Given the description of an element on the screen output the (x, y) to click on. 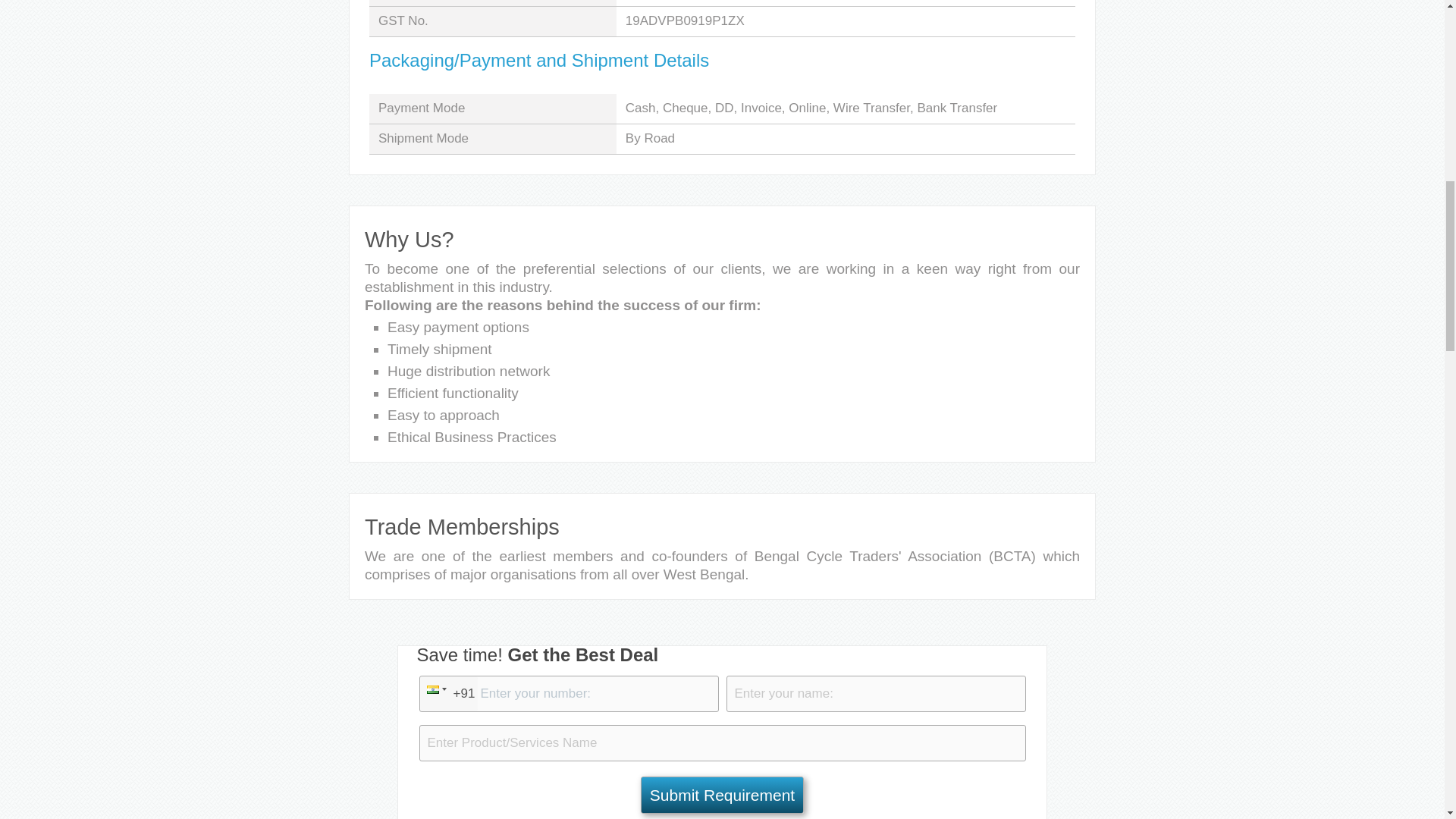
Enter your name: (876, 693)
Submit Requirement (721, 795)
Submit Requirement (721, 795)
Enter your number: (568, 693)
